Given the description of an element on the screen output the (x, y) to click on. 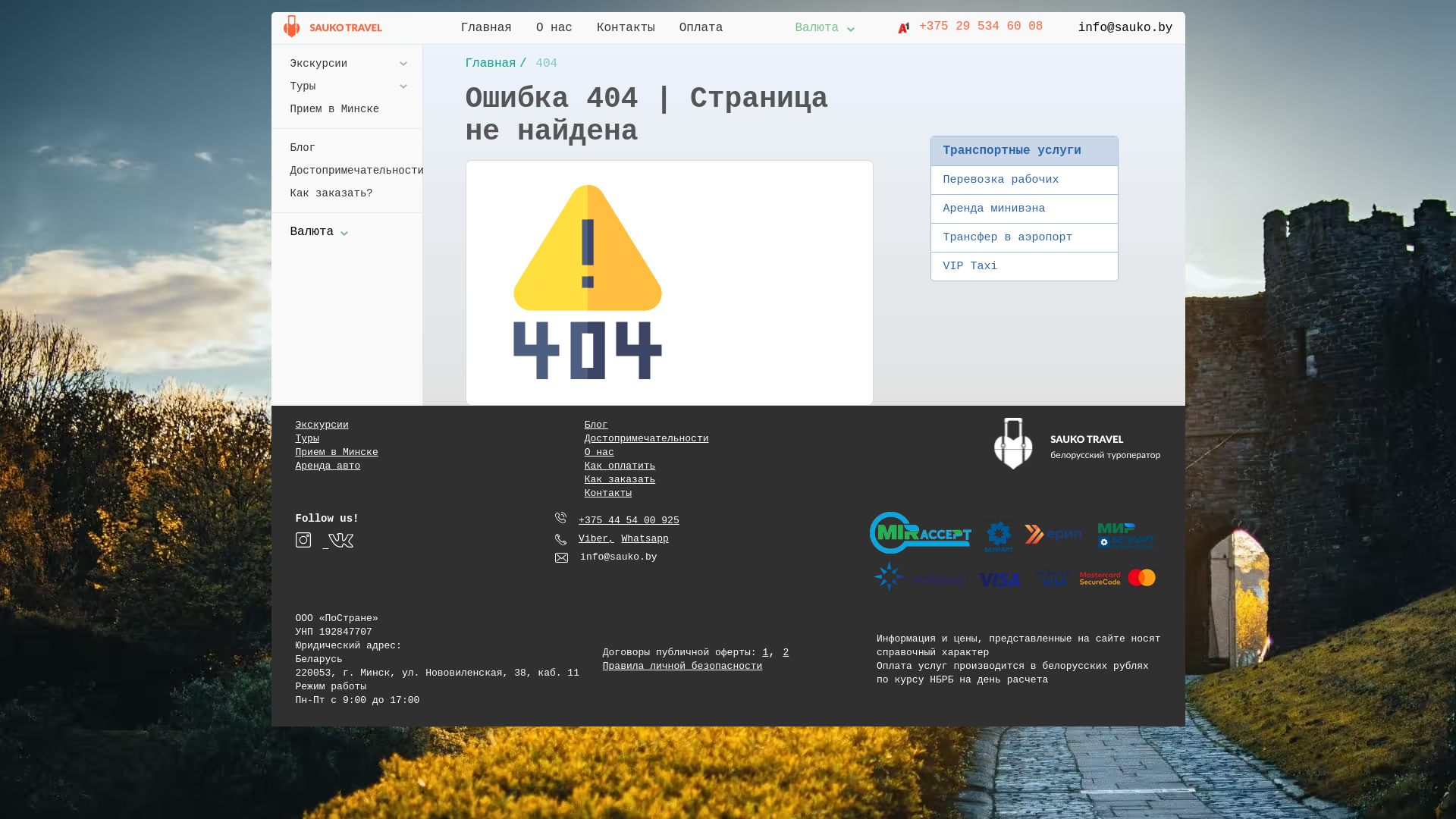
Whatsapp Element type: text (644, 539)
+375 29 534 60 08 Element type: text (968, 27)
404 Element type: text (546, 63)
VIP Taxi Element type: text (1024, 266)
+375 44 54 00 925 Element type: text (617, 520)
1 Element type: text (765, 652)
Viber, Element type: text (596, 539)
2 Element type: text (785, 652)
